Given the description of an element on the screen output the (x, y) to click on. 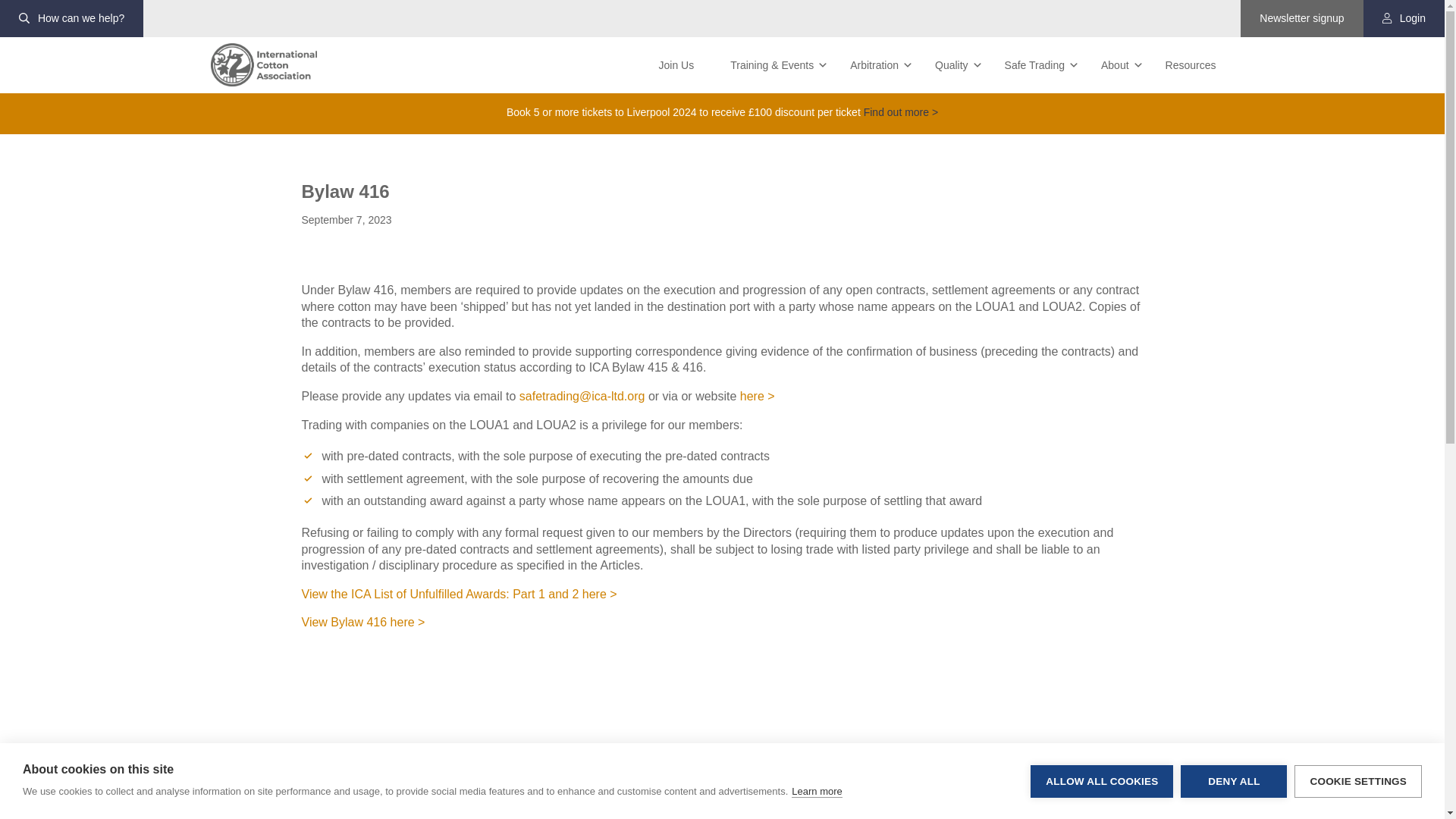
Join Us (676, 64)
Arbitration (874, 64)
Join Us (676, 64)
Quality (952, 64)
Safe Trading (1035, 64)
Arbitration (874, 64)
How can we help? (71, 18)
Newsletter signup (1301, 18)
